Given the description of an element on the screen output the (x, y) to click on. 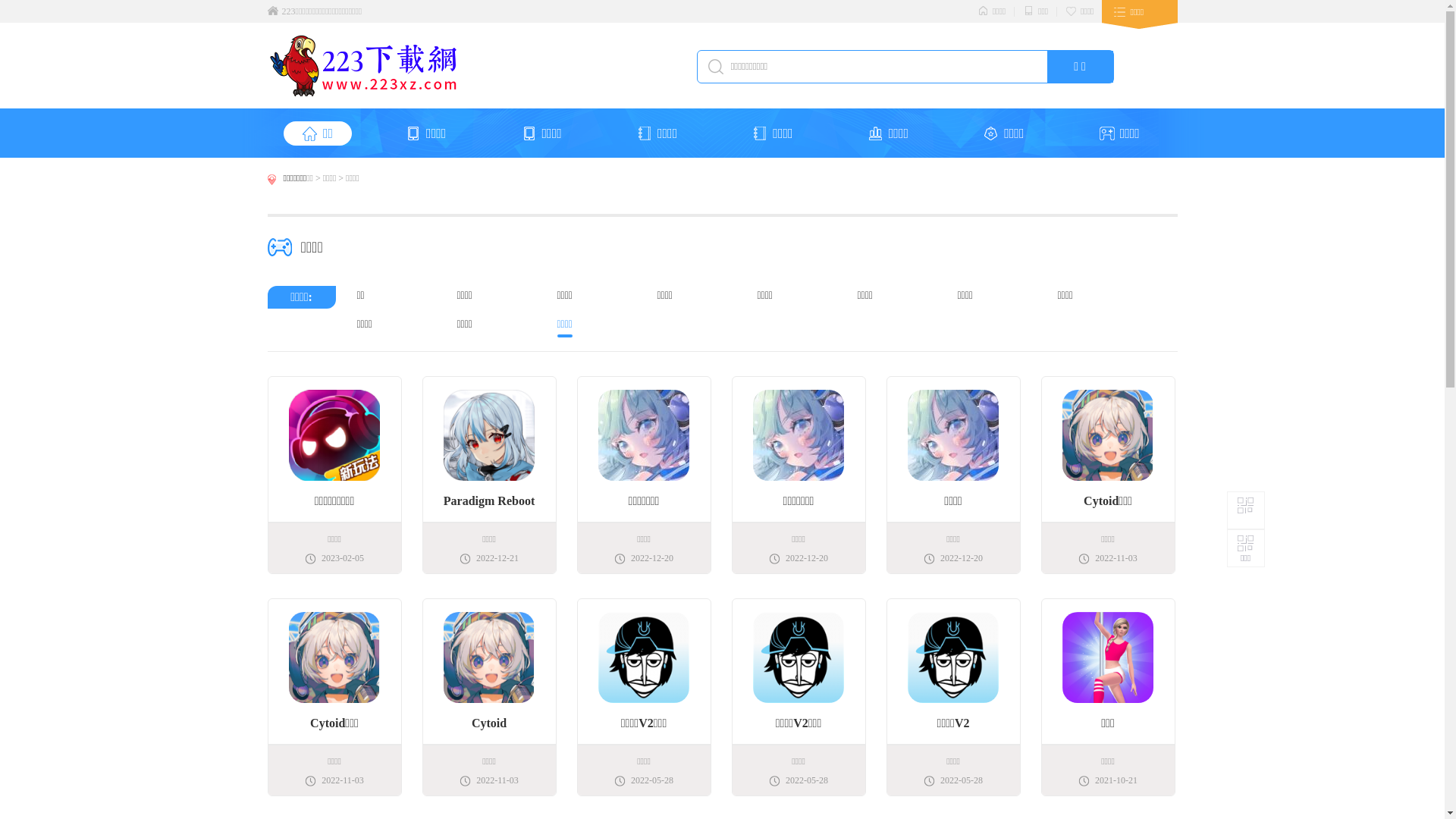
Paradigm Reboot Element type: text (489, 455)
Cytoid Element type: text (489, 677)
